Given the description of an element on the screen output the (x, y) to click on. 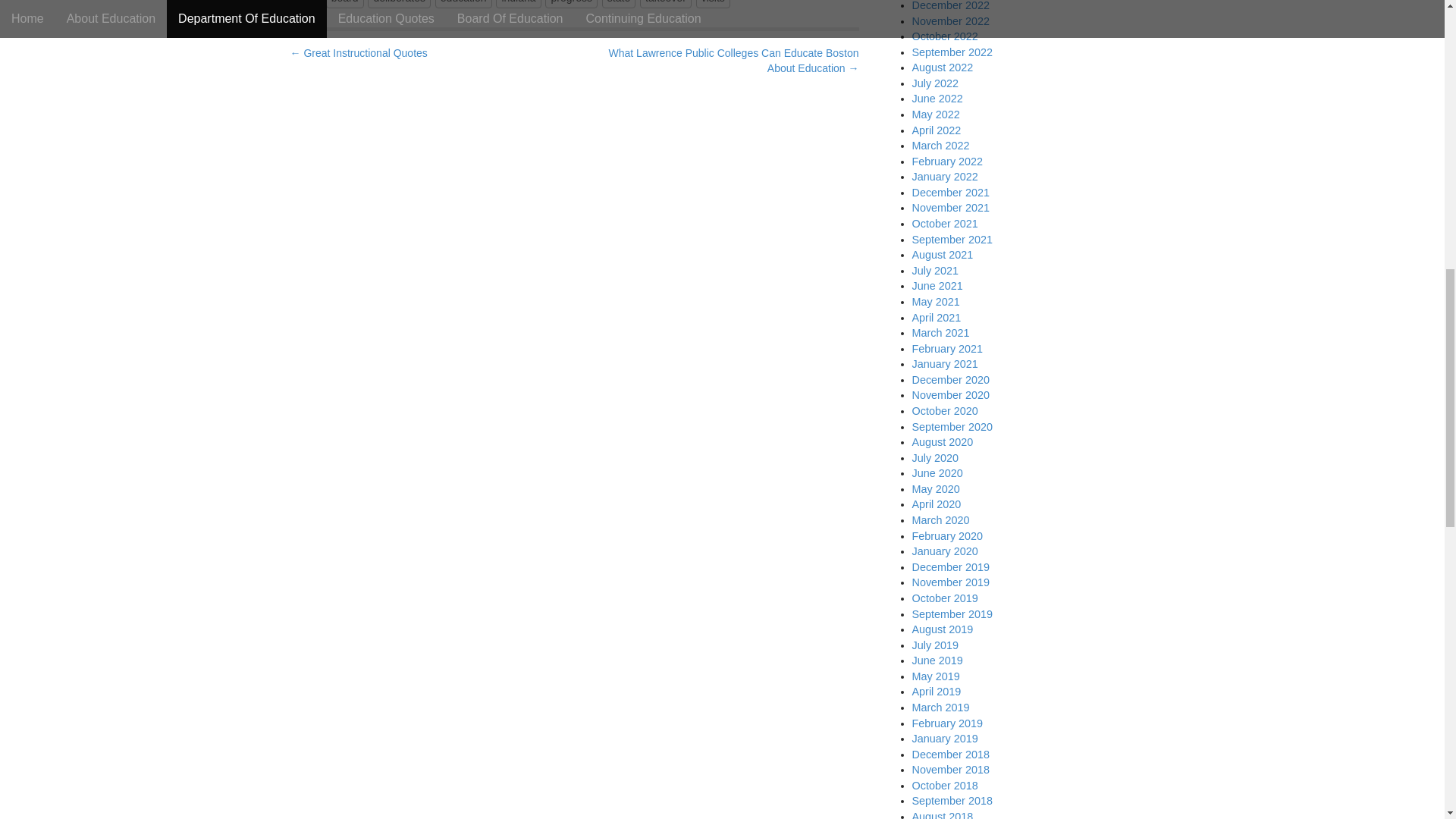
education (463, 4)
indiana (518, 4)
visits (712, 4)
deliberates (399, 4)
progress (570, 4)
state (618, 4)
takeover (665, 4)
board (345, 4)
